Given the description of an element on the screen output the (x, y) to click on. 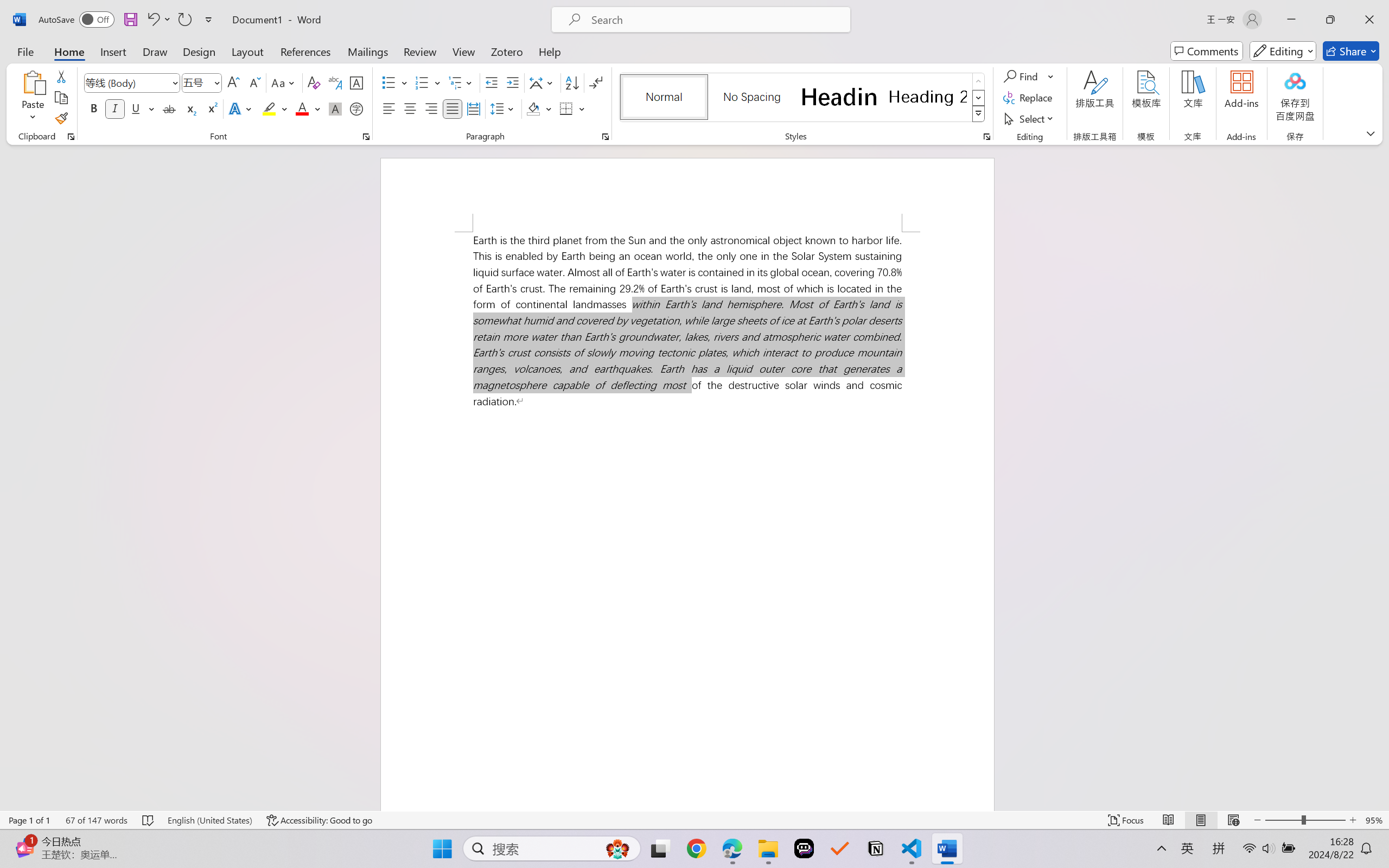
Grow Font (233, 82)
Justify (452, 108)
